Given the description of an element on the screen output the (x, y) to click on. 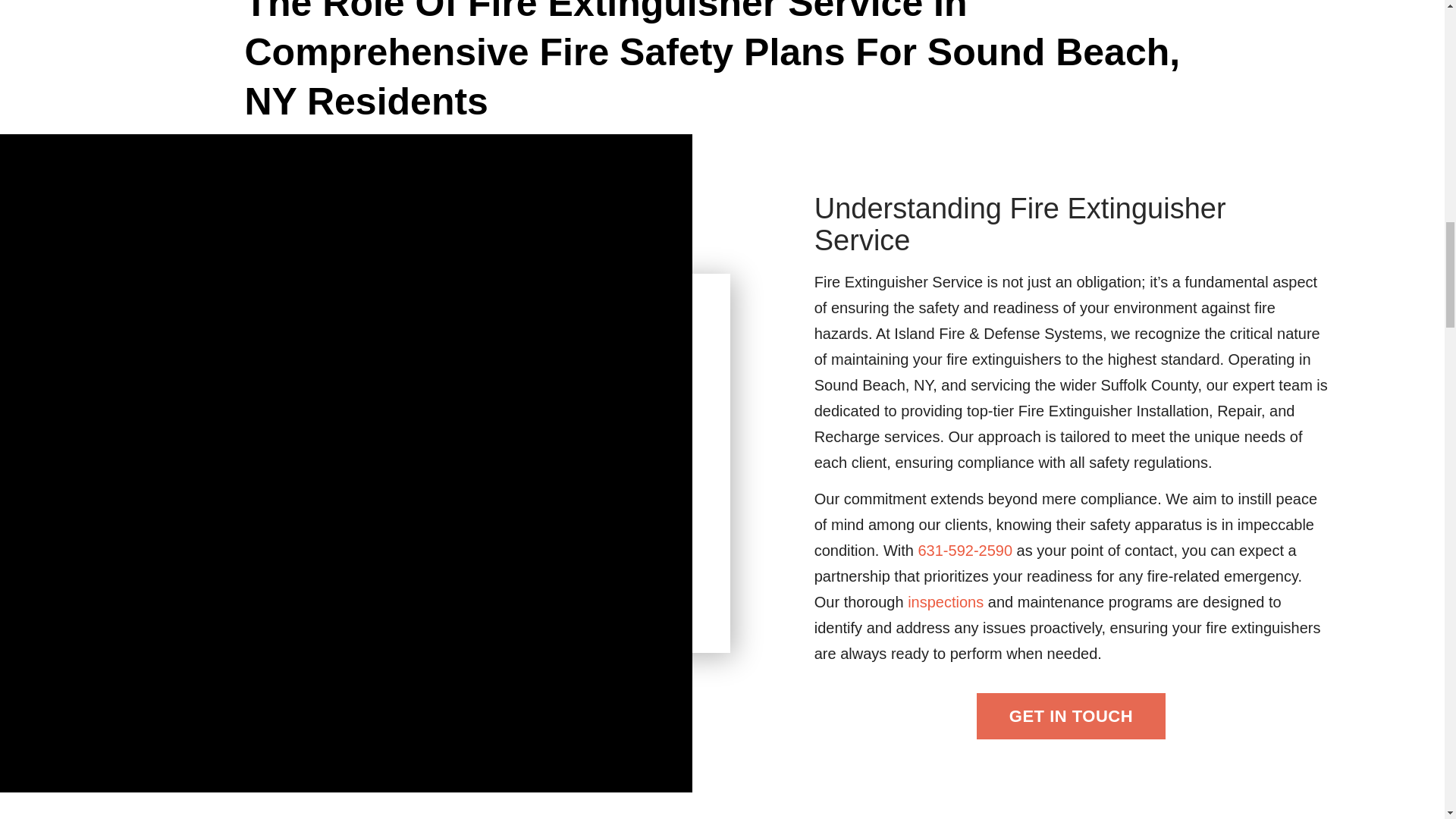
Monitoring and Inspections (945, 601)
